Given the description of an element on the screen output the (x, y) to click on. 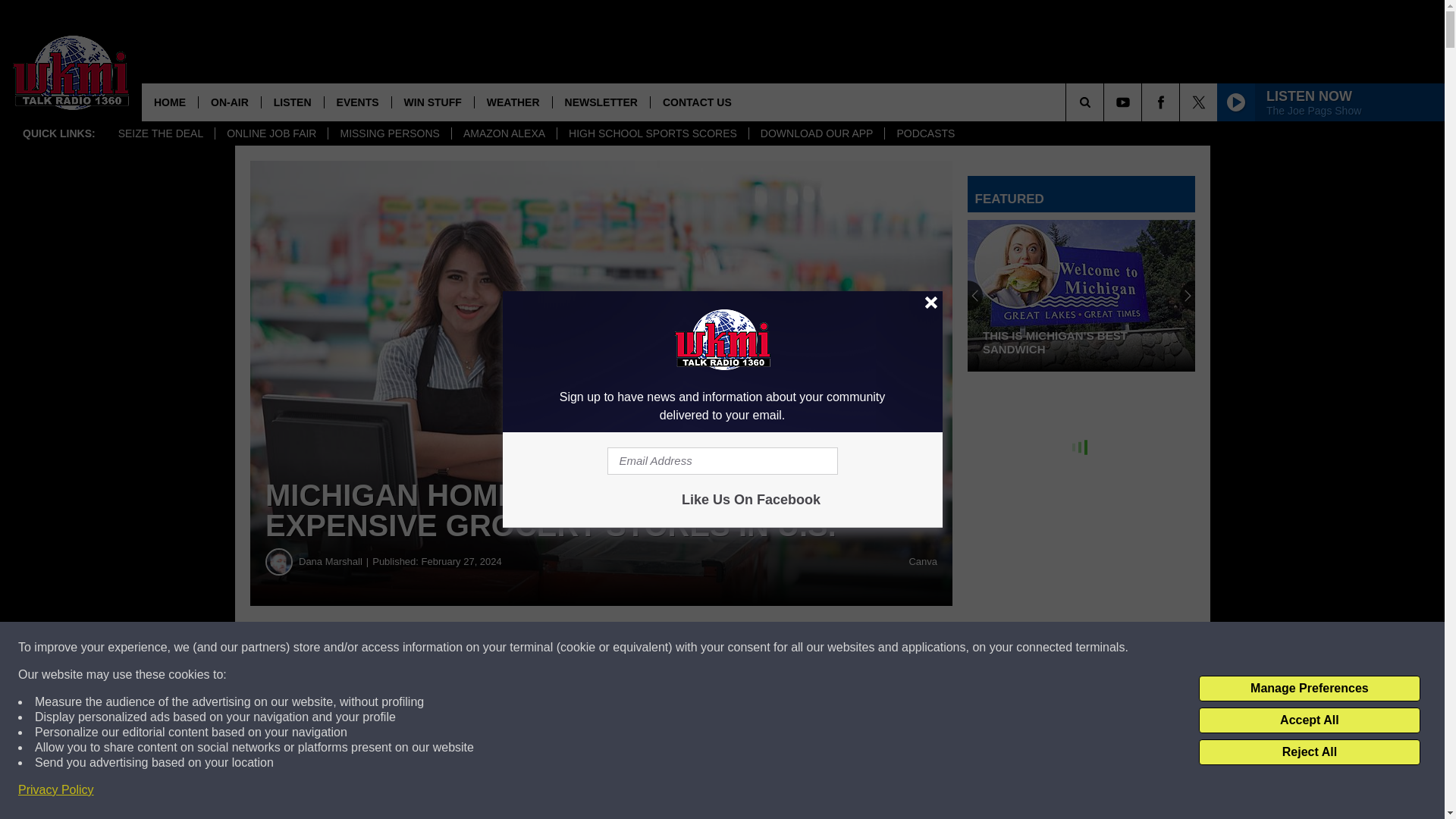
NEWSLETTER (600, 102)
ON-AIR (229, 102)
WEATHER (512, 102)
Reject All (1309, 751)
ONLINE JOB FAIR (270, 133)
CONTACT US (696, 102)
MISSING PERSONS (388, 133)
PODCASTS (924, 133)
Share on Facebook (460, 647)
Email Address (722, 461)
DOWNLOAD OUR APP (816, 133)
Share on Twitter (741, 647)
Privacy Policy (55, 789)
Manage Preferences (1309, 688)
WIN STUFF (432, 102)
